Given the description of an element on the screen output the (x, y) to click on. 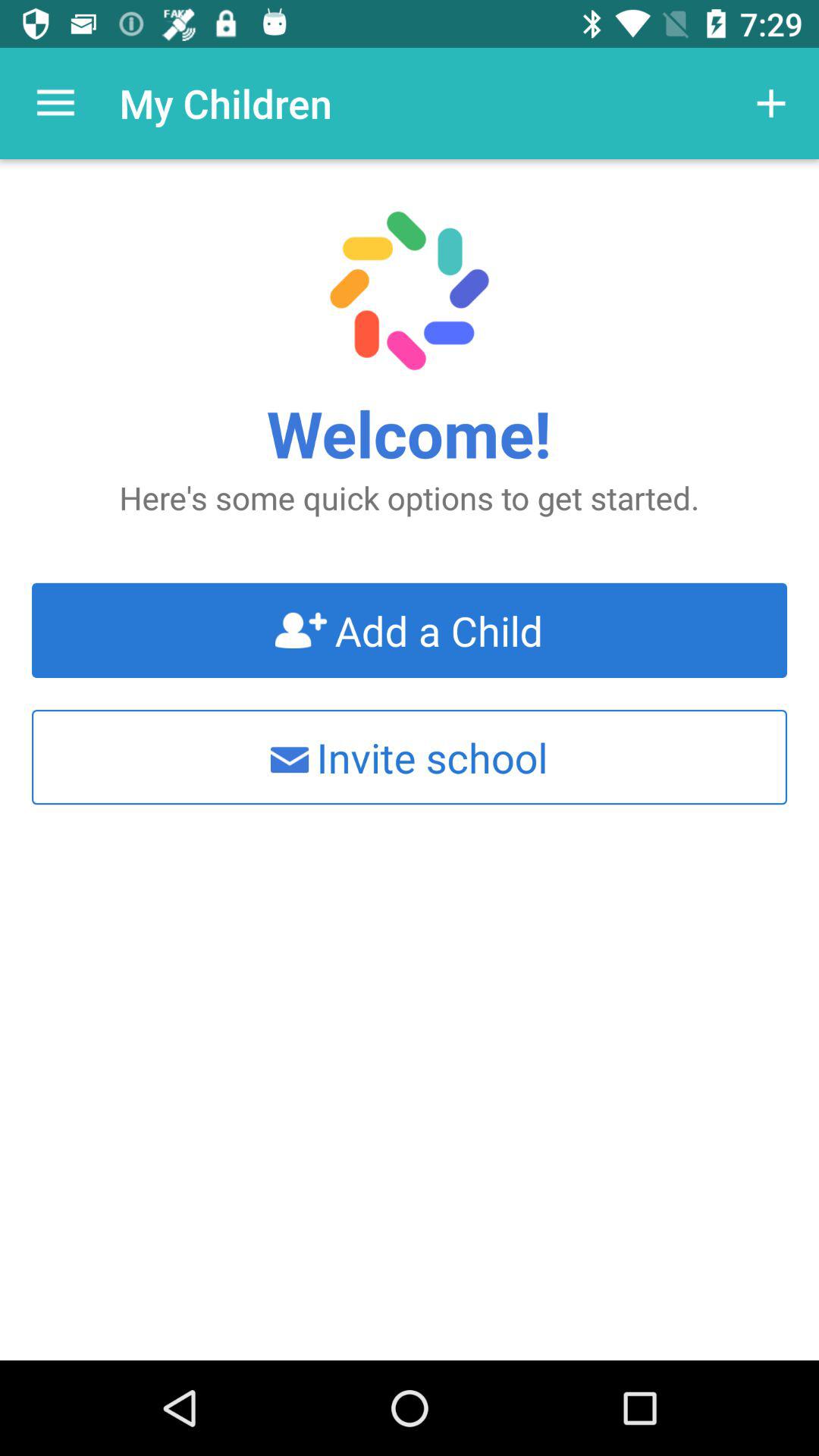
turn on item next to my children icon (55, 103)
